Given the description of an element on the screen output the (x, y) to click on. 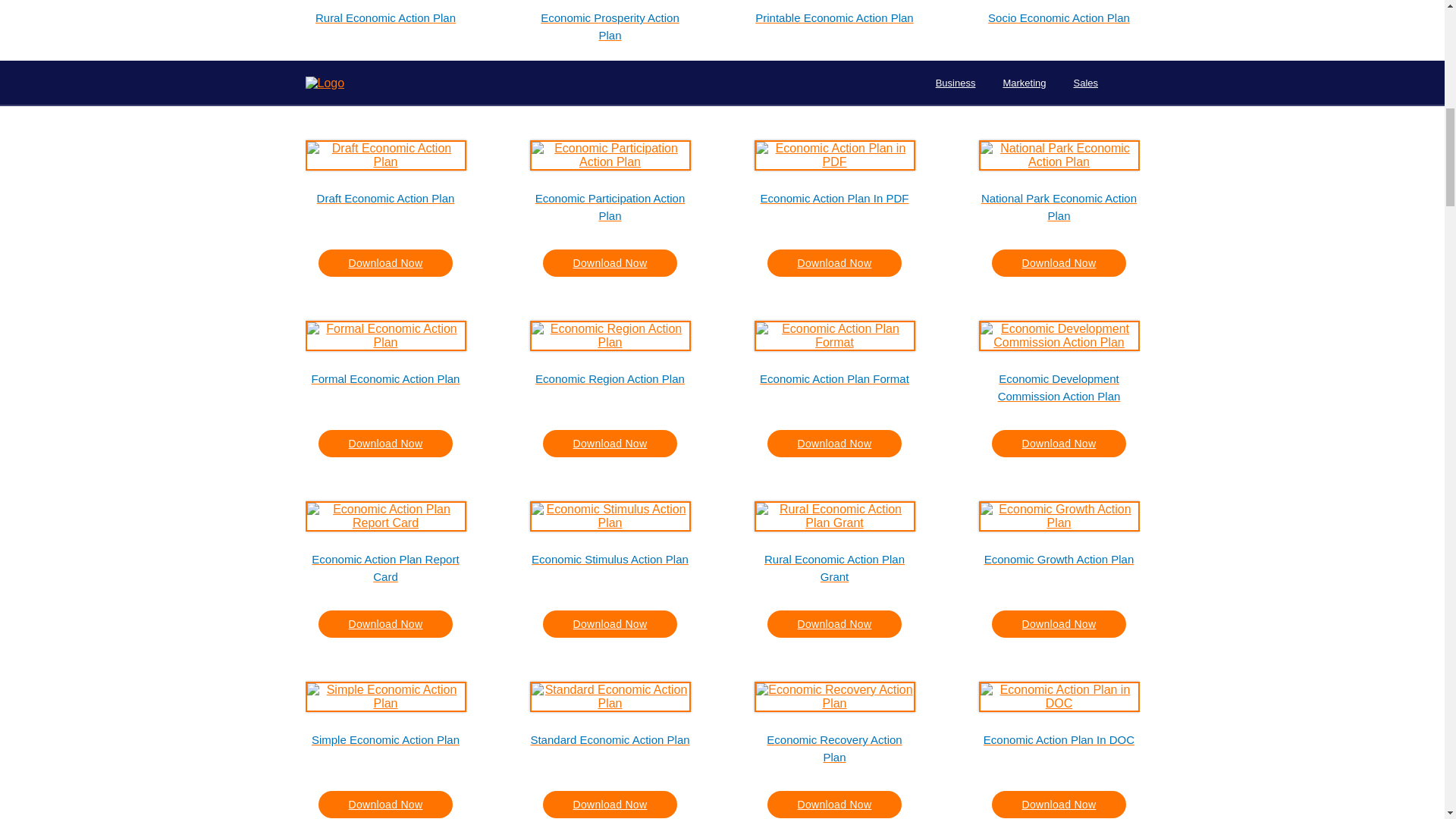
Download Now (1058, 82)
Download Now (385, 82)
Rural Economic Action Plan (384, 25)
Economic Prosperity Action Plan (609, 25)
Draft Economic Action Plan (384, 205)
Download Now (610, 82)
Socio Economic Action Plan (1058, 25)
Download Now (834, 82)
Printable Economic Action Plan (834, 25)
